Given the description of an element on the screen output the (x, y) to click on. 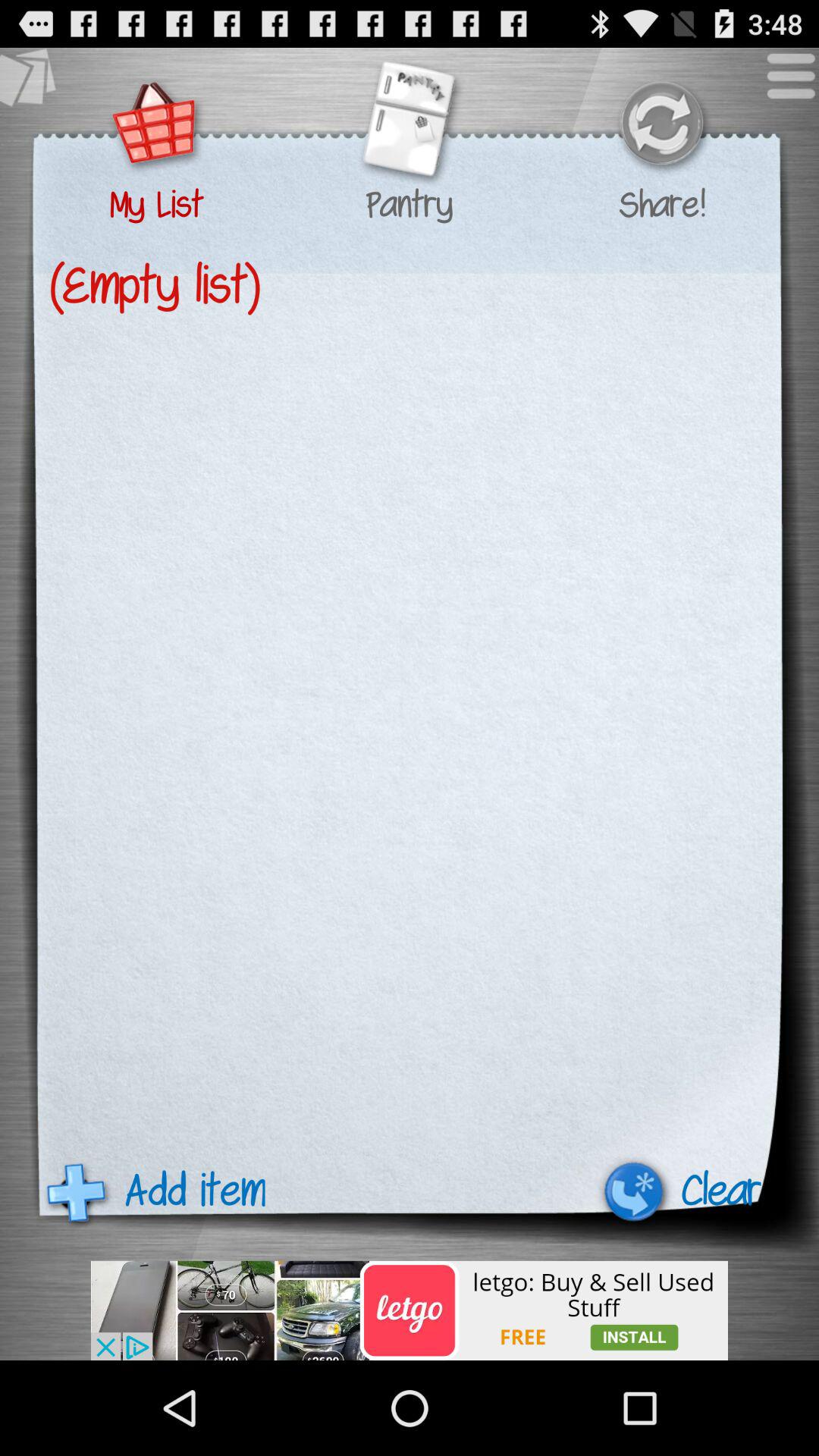
mh (156, 125)
